Given the description of an element on the screen output the (x, y) to click on. 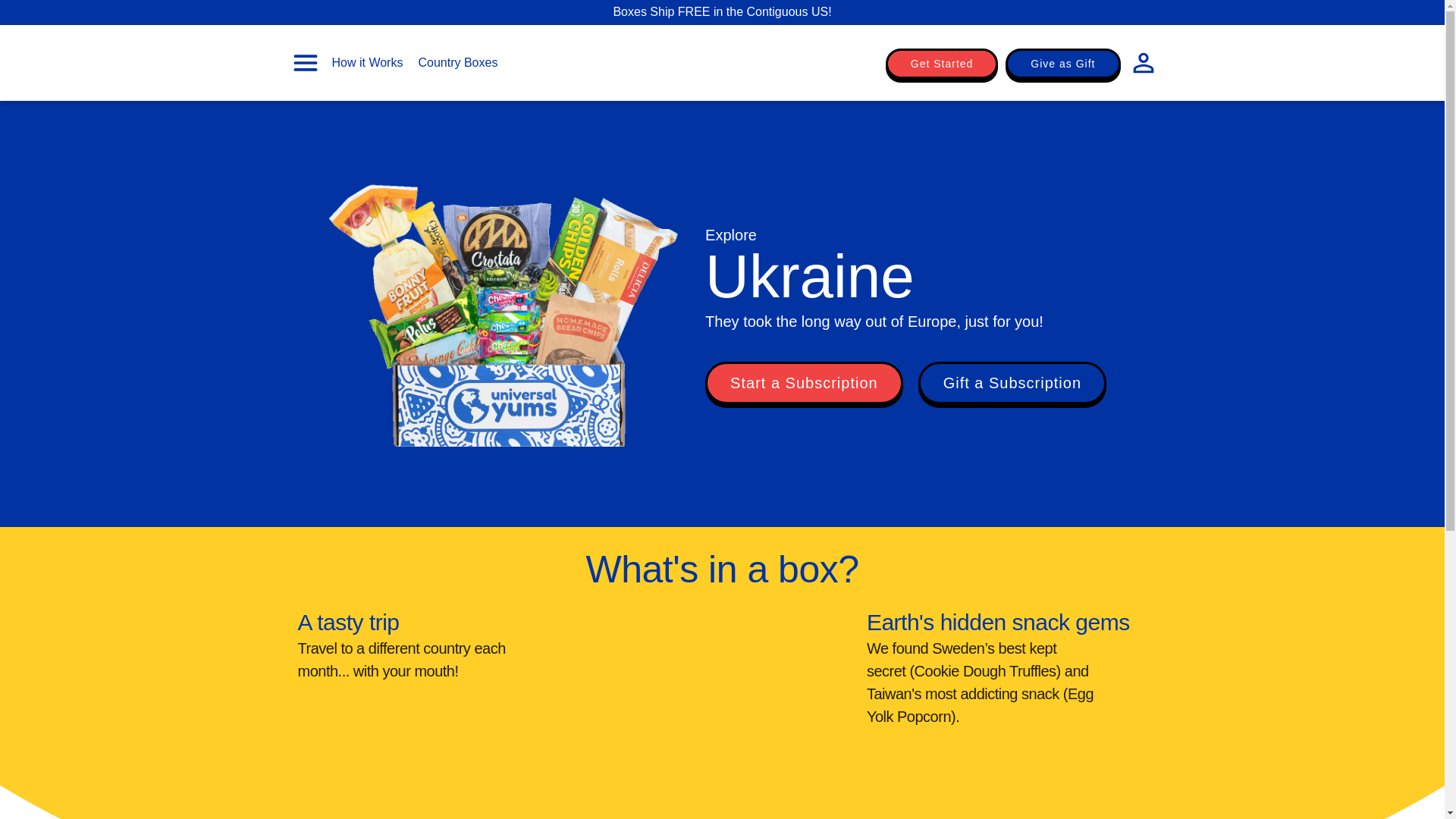
Give as Gift (1062, 63)
Start a Subscription (803, 382)
Gift a Subscription (1012, 382)
Country Boxes (457, 62)
How it Works (367, 62)
Universal Yums (722, 63)
Get Started (941, 63)
